Given the description of an element on the screen output the (x, y) to click on. 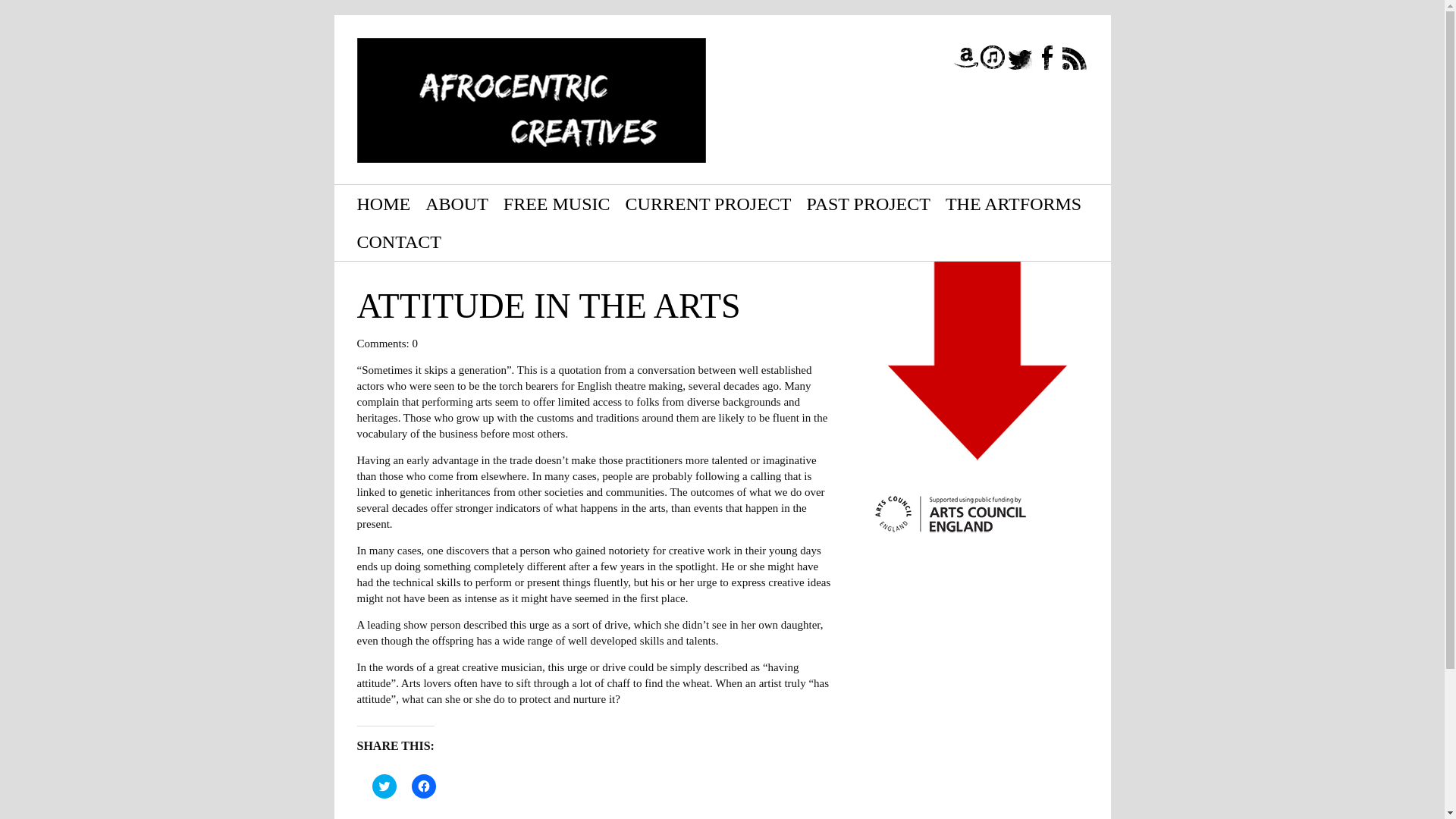
FREE MUSIC (556, 203)
Permanent Link to Attitude in the arts (547, 305)
CONTACT (398, 241)
Afrocentric Creatives (530, 99)
CURRENT PROJECT (708, 203)
Click to share on Twitter (383, 785)
THE ARTFORMS (1013, 203)
ABOUT (456, 203)
HOME (383, 203)
PAST PROJECT (867, 203)
